Given the description of an element on the screen output the (x, y) to click on. 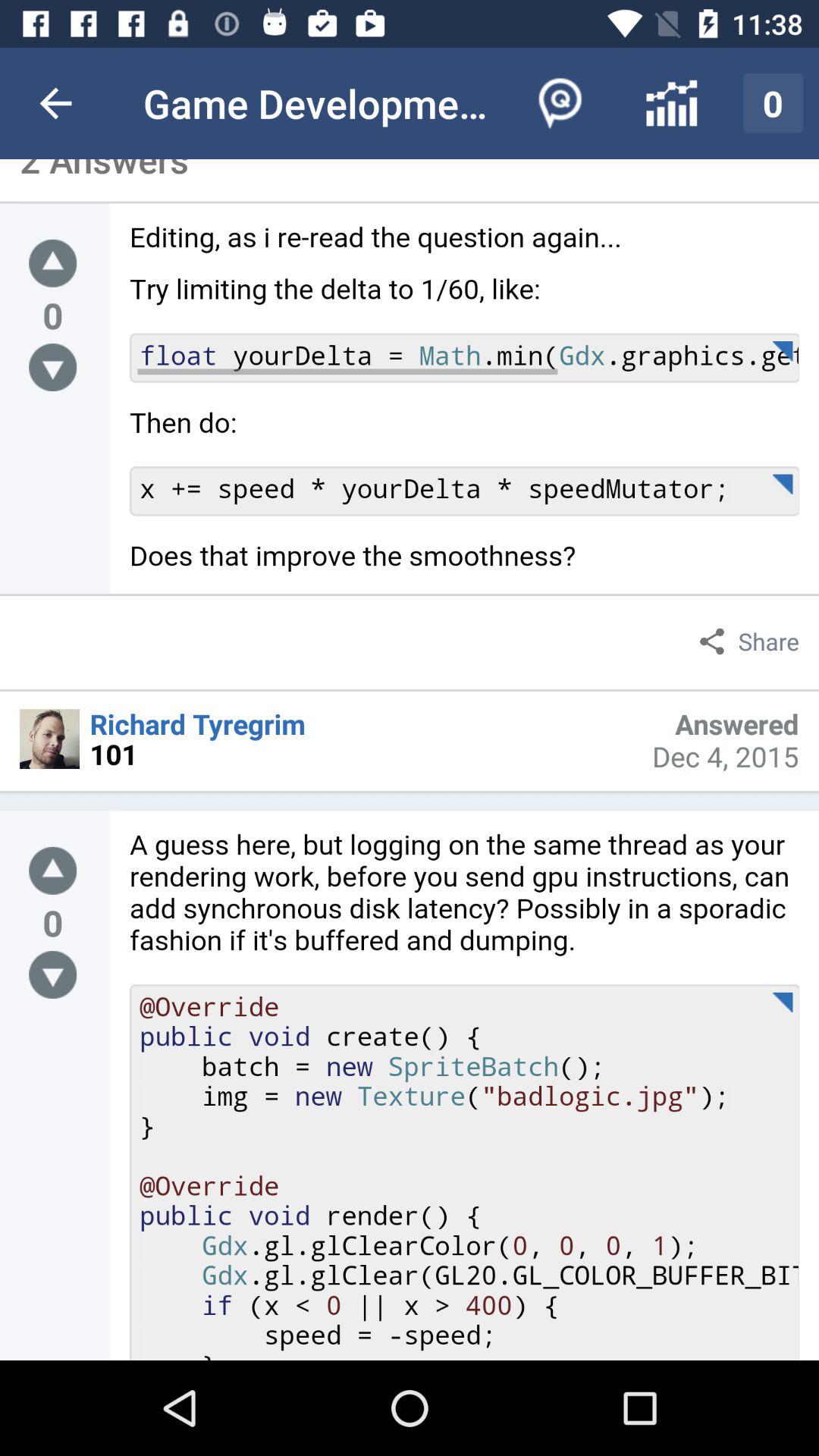
editing page (52, 263)
